Given the description of an element on the screen output the (x, y) to click on. 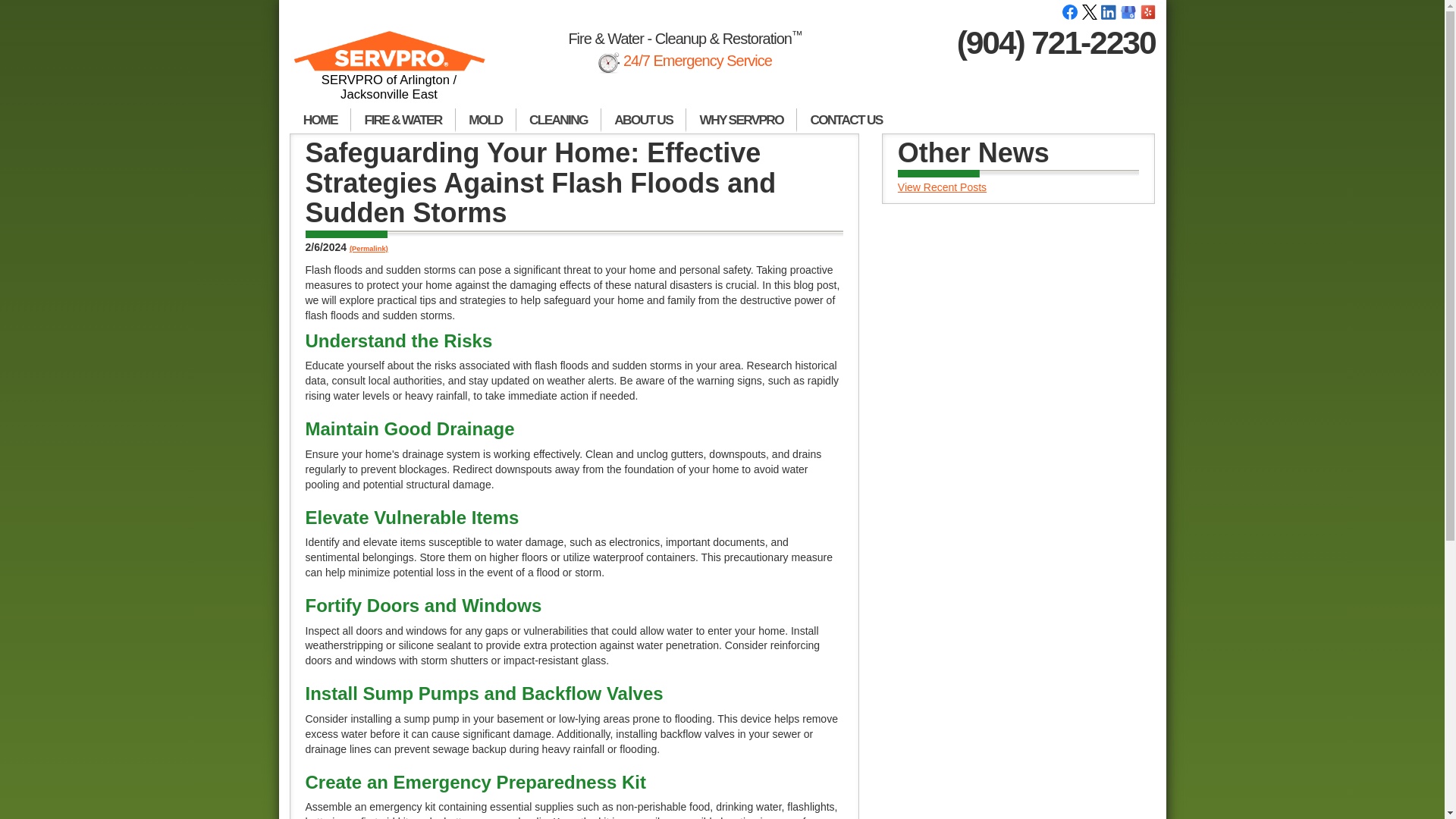
HOME (319, 120)
CLEANING (558, 120)
ABOUT US (643, 120)
MOLD (485, 120)
